Given the description of an element on the screen output the (x, y) to click on. 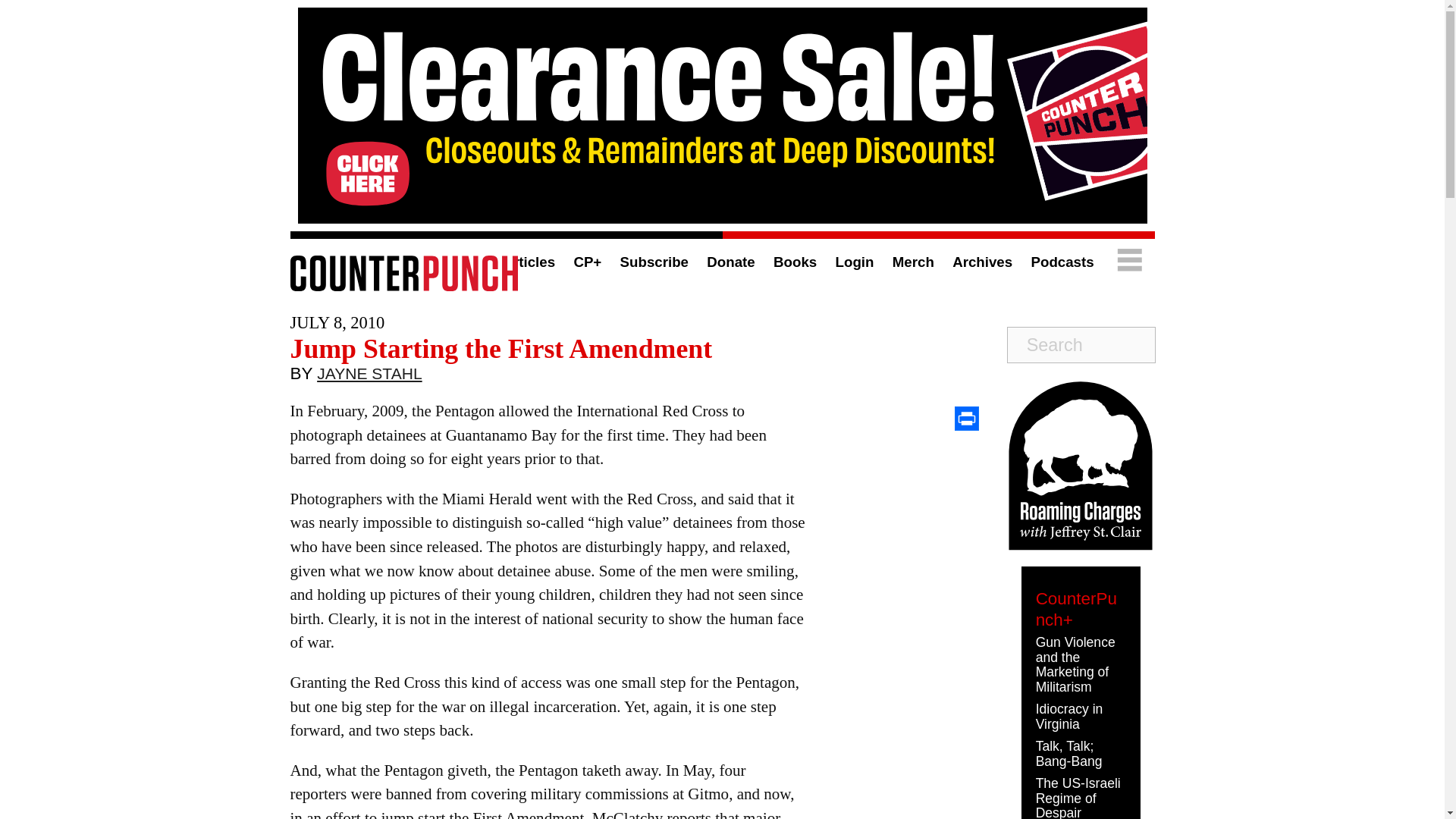
Idiocracy in Virginia (1069, 716)
Archives (981, 261)
Articles (528, 261)
Gun Violence and the Marketing of Militarism (1075, 664)
Subscribe (654, 261)
Login (855, 261)
Talk, Talk; Bang-Bang (1068, 753)
Books (794, 261)
The US-Israeli Regime of Despair (1078, 797)
2010-07-08 (336, 322)
Merch (913, 261)
Jump Starting the First Amendment (500, 348)
Print This Post (966, 418)
Podcasts (1061, 261)
Donate (730, 261)
